Given the description of an element on the screen output the (x, y) to click on. 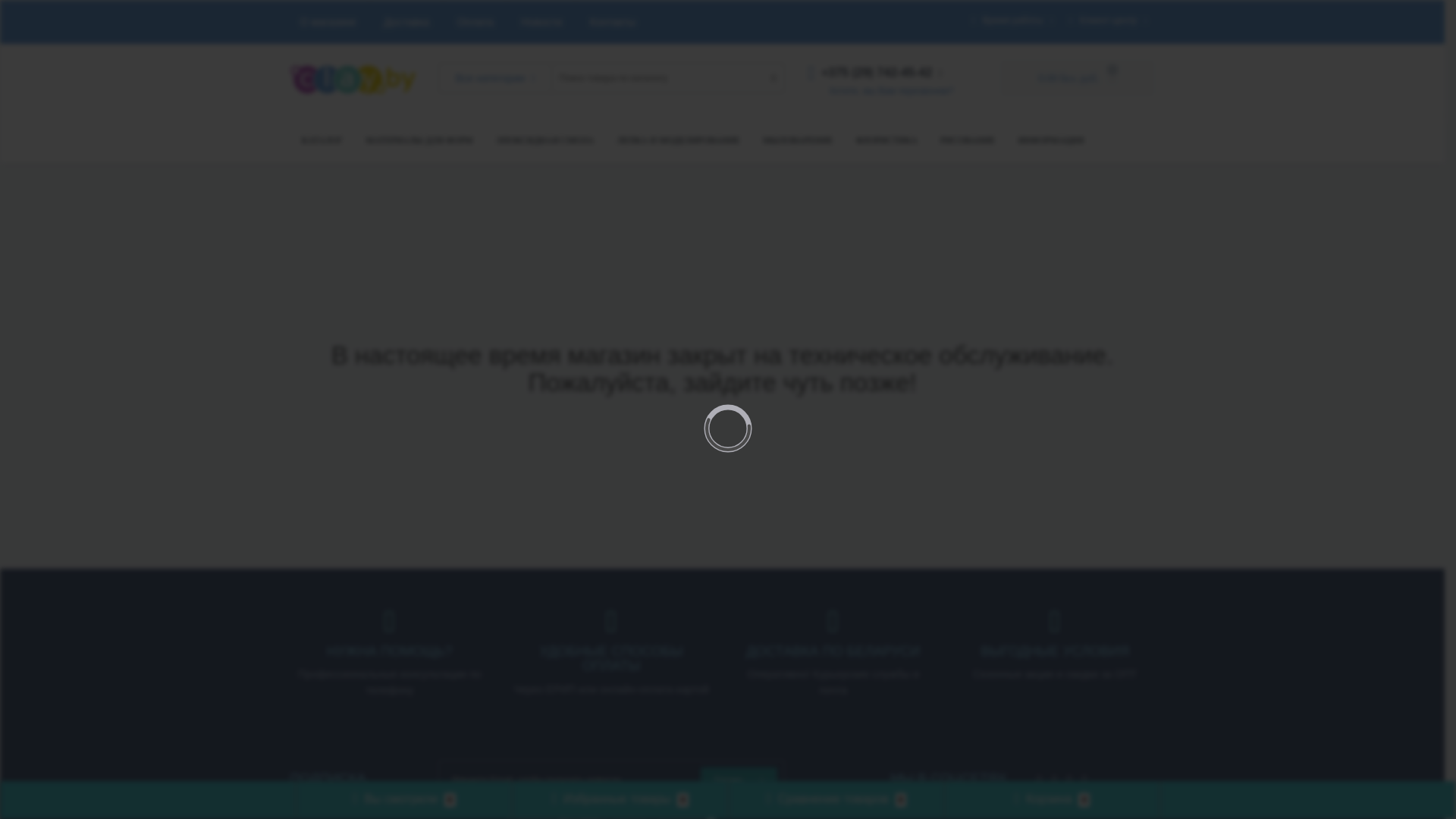
Instagram Element type: hover (1050, 775)
Facebook Element type: hover (1035, 775)
Odnoklassniki Element type: hover (1080, 775)
+375 (29) 742-45-42 Element type: text (874, 71)
Vkonakte Element type: hover (1065, 775)
